Given the description of an element on the screen output the (x, y) to click on. 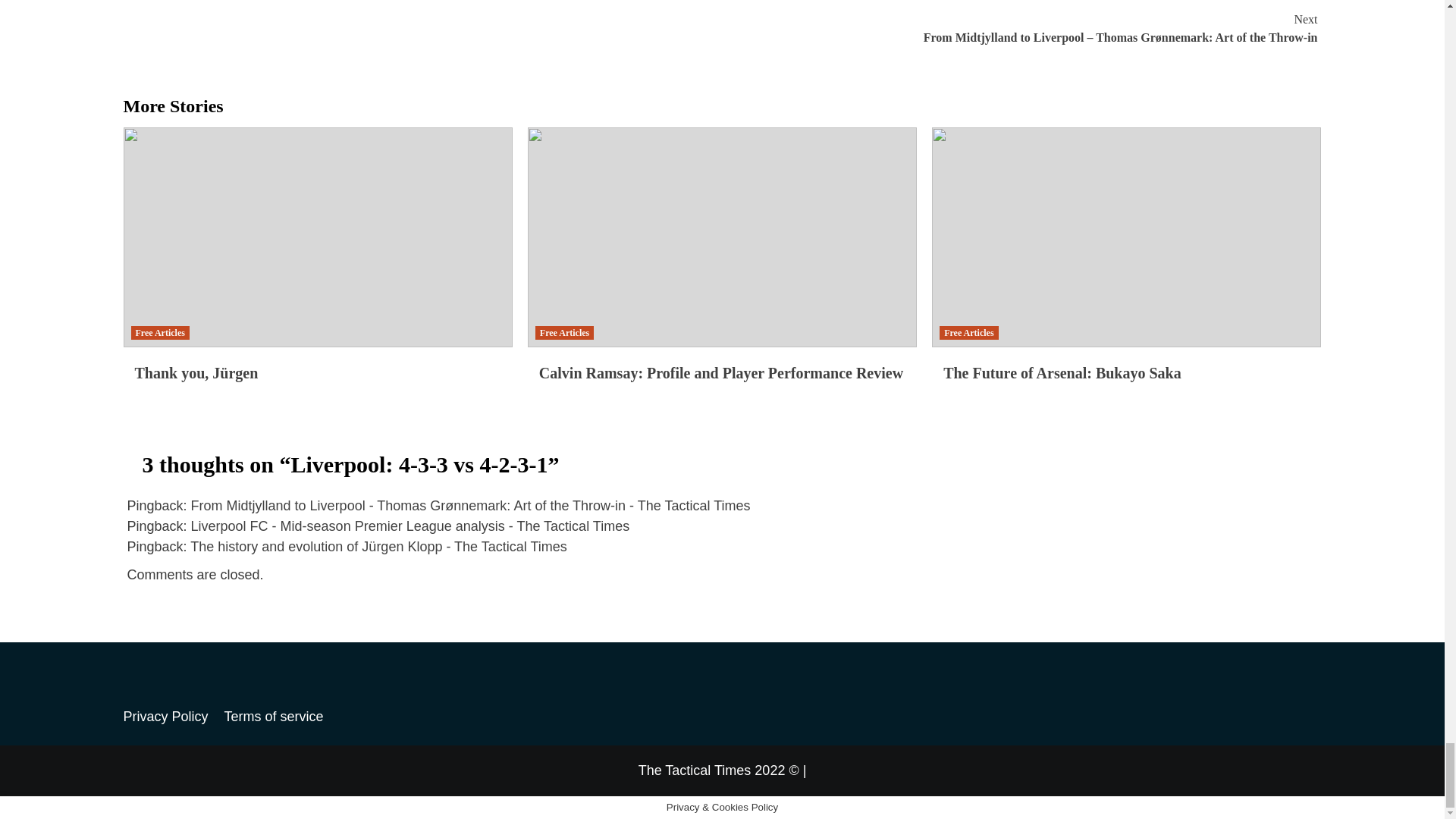
Privacy Policy (170, 716)
Free Articles (564, 332)
Calvin Ramsay: Profile and Player Performance Review (720, 372)
Free Articles (160, 332)
Terms of service (280, 716)
Free Articles (968, 332)
The Future of Arsenal: Bukayo Saka (1061, 372)
